Given the description of an element on the screen output the (x, y) to click on. 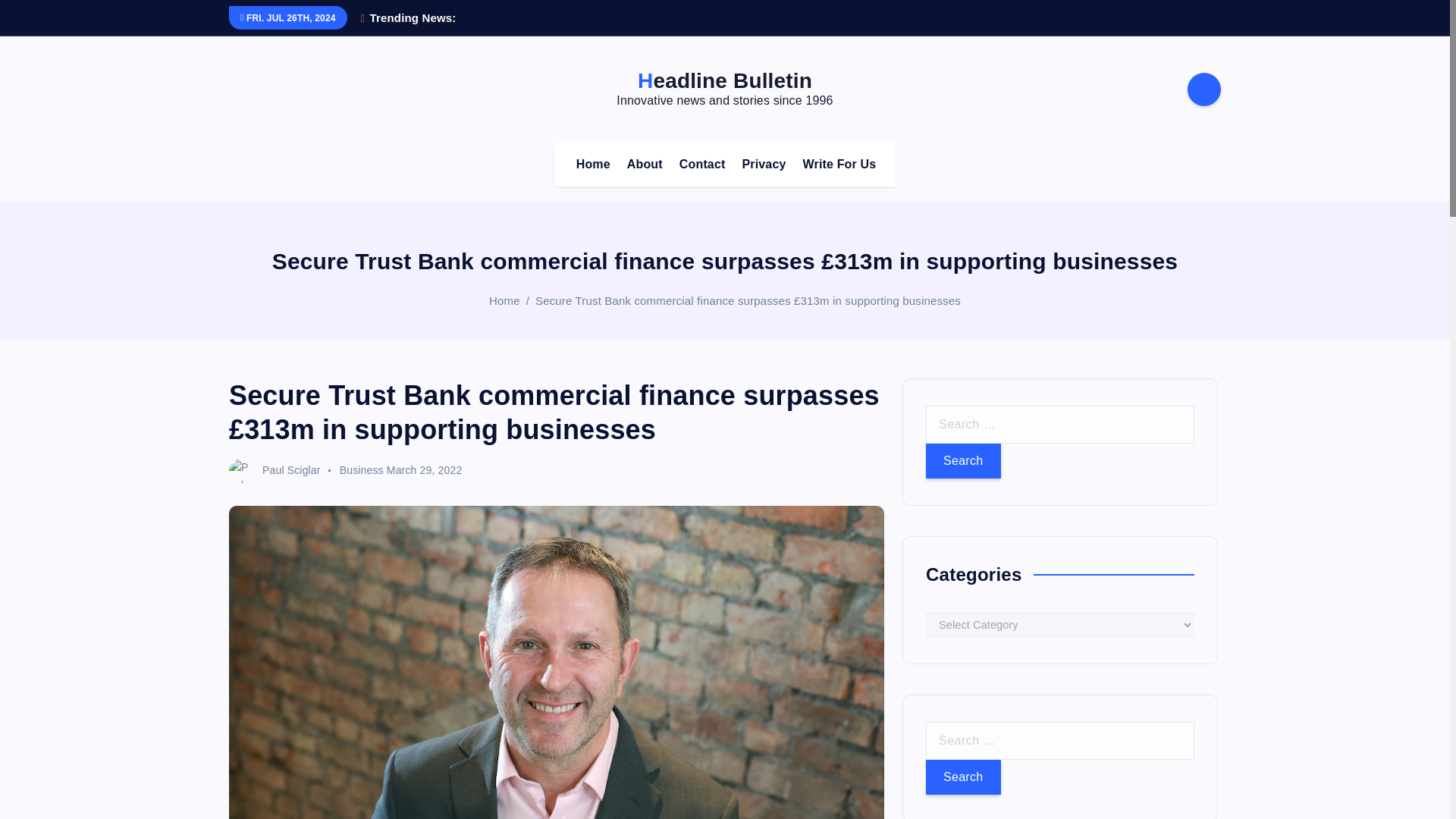
Headline Bulletin (724, 80)
Paul Sciglar (274, 469)
Privacy (763, 164)
About (644, 164)
Search (963, 777)
Business (361, 469)
Search (963, 460)
Home (593, 164)
Write For Us (839, 164)
Search (963, 460)
Search (963, 777)
Home (504, 300)
Contact (702, 164)
Home (593, 164)
